Given the description of an element on the screen output the (x, y) to click on. 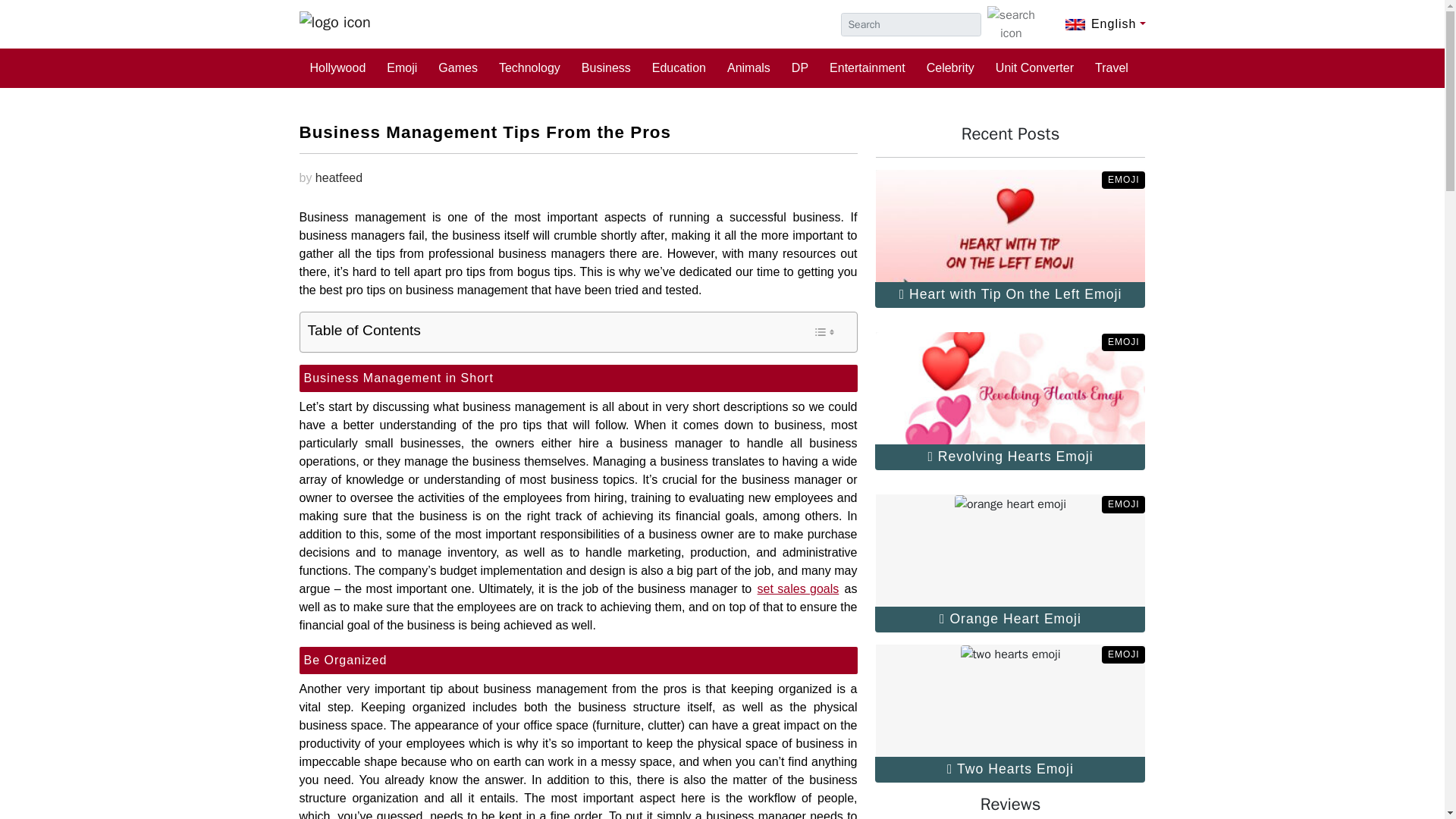
English (1105, 23)
Emoji (401, 67)
Education (679, 67)
Hollywood (336, 67)
Business (606, 67)
DP (799, 67)
Animals (748, 67)
Games (457, 67)
Entertainment (866, 67)
